Given the description of an element on the screen output the (x, y) to click on. 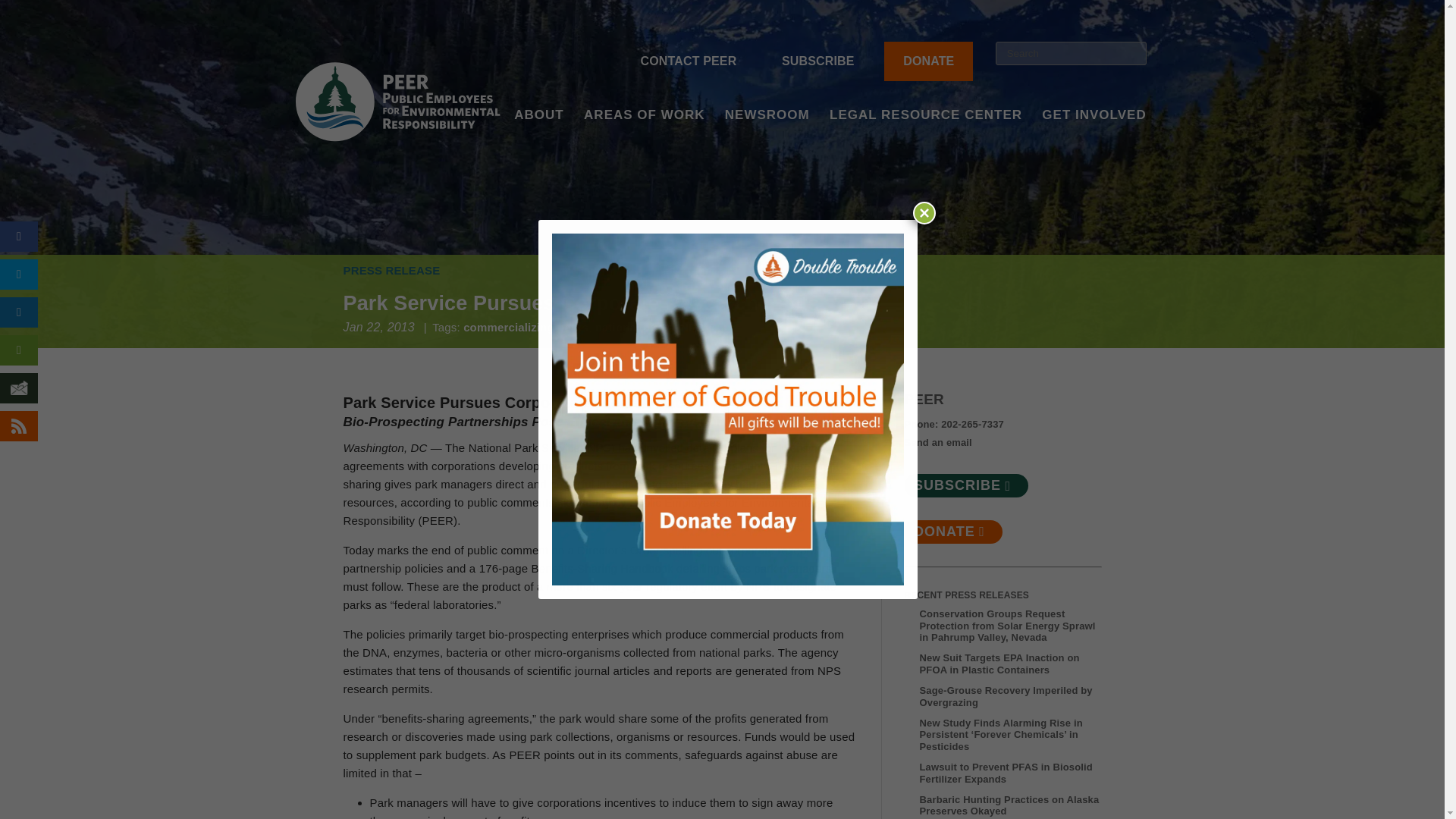
AREAS OF WORK (643, 135)
DONATE (928, 60)
ABOUT (538, 135)
SUBSCRIBE (818, 60)
CONTACT PEER (689, 60)
